Given the description of an element on the screen output the (x, y) to click on. 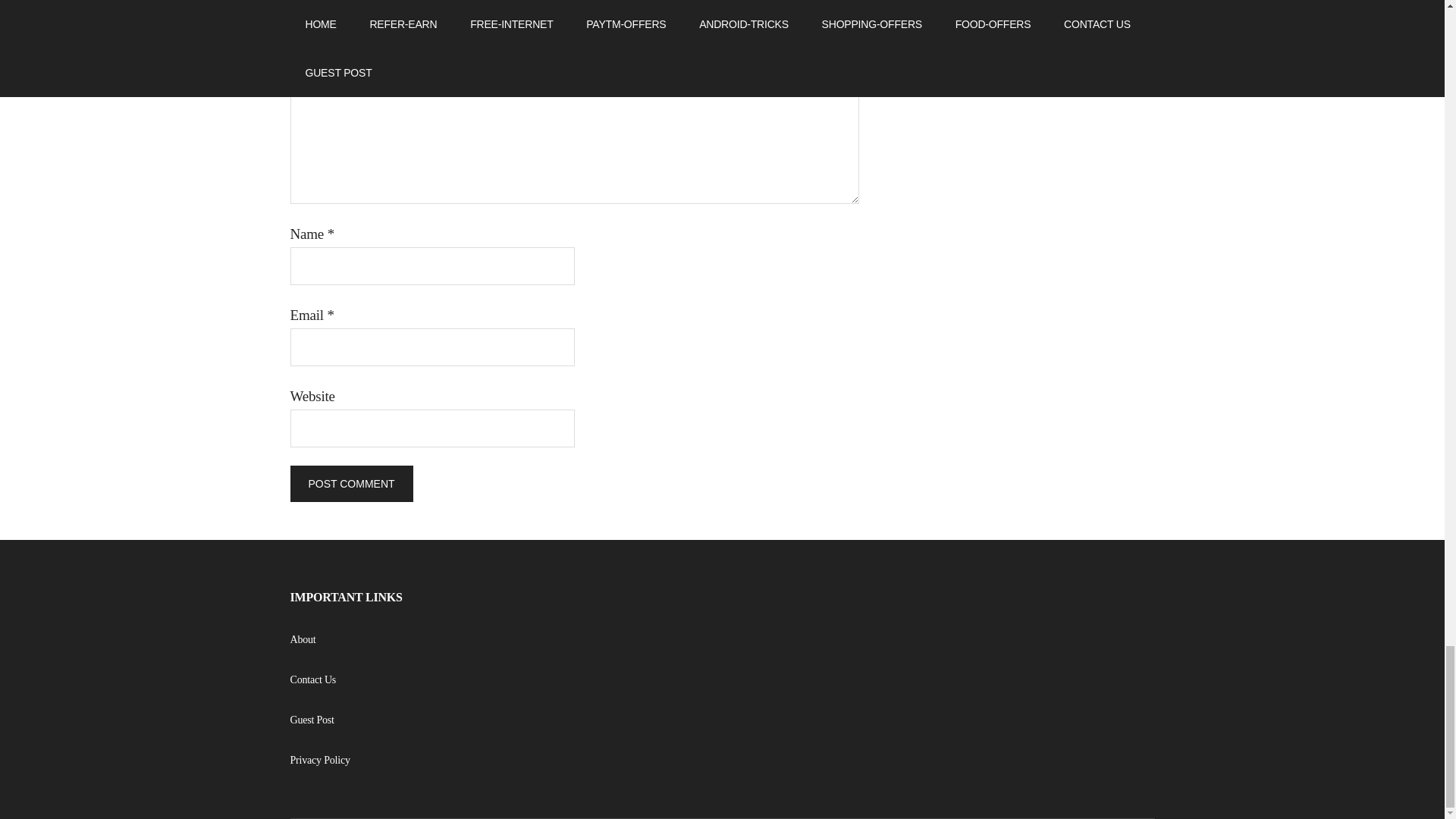
Guest Post (311, 719)
Post Comment (350, 484)
Privacy Policy (319, 759)
Contact Us (312, 679)
Post Comment (350, 484)
About (302, 639)
